Given the description of an element on the screen output the (x, y) to click on. 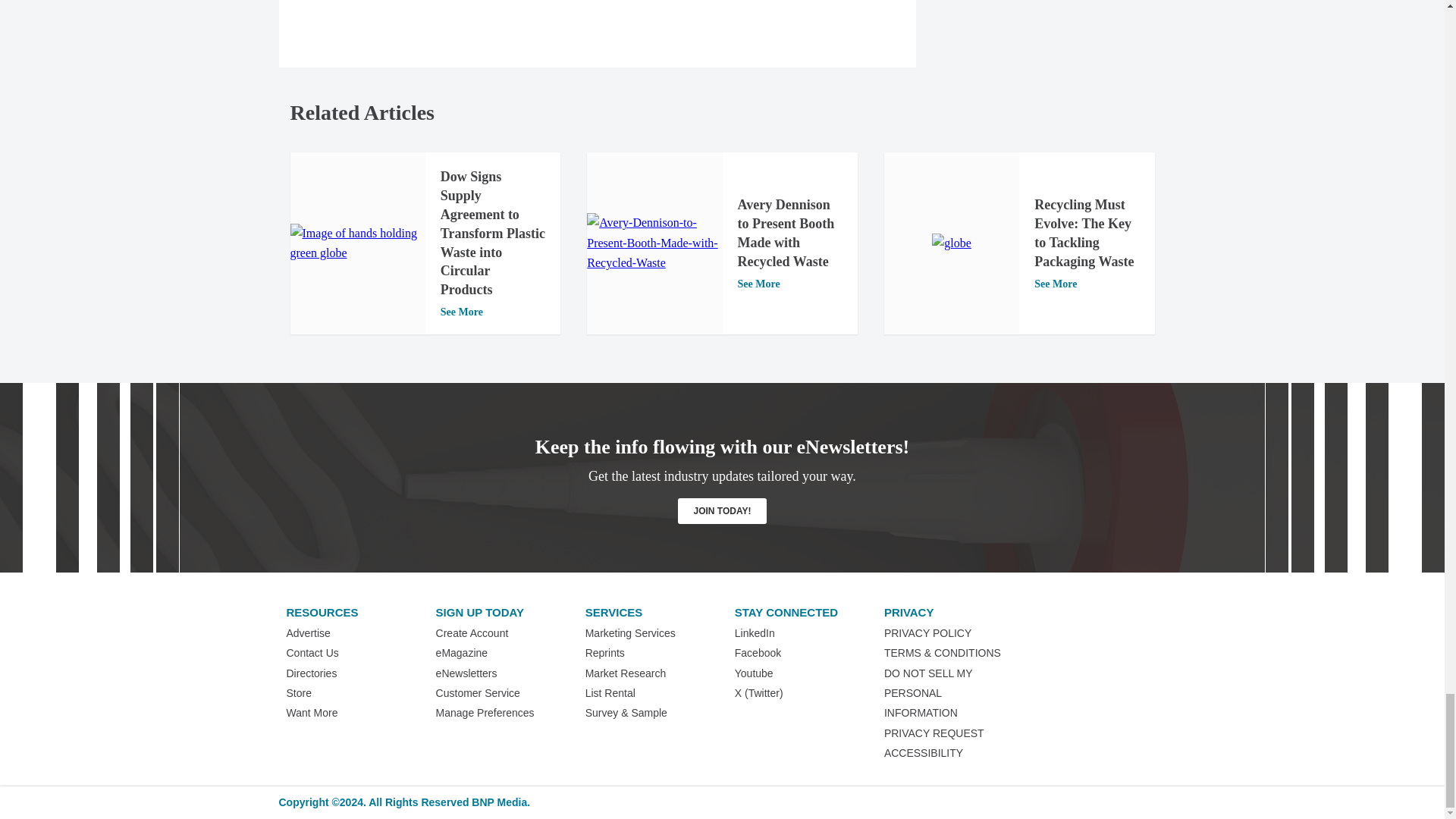
Avery-Dennison-to-Present-Booth-Made-with-Recycled-Waste (654, 242)
globe-feature (951, 243)
Interaction questions (597, 3)
Hands holding green globe (357, 243)
